Given the description of an element on the screen output the (x, y) to click on. 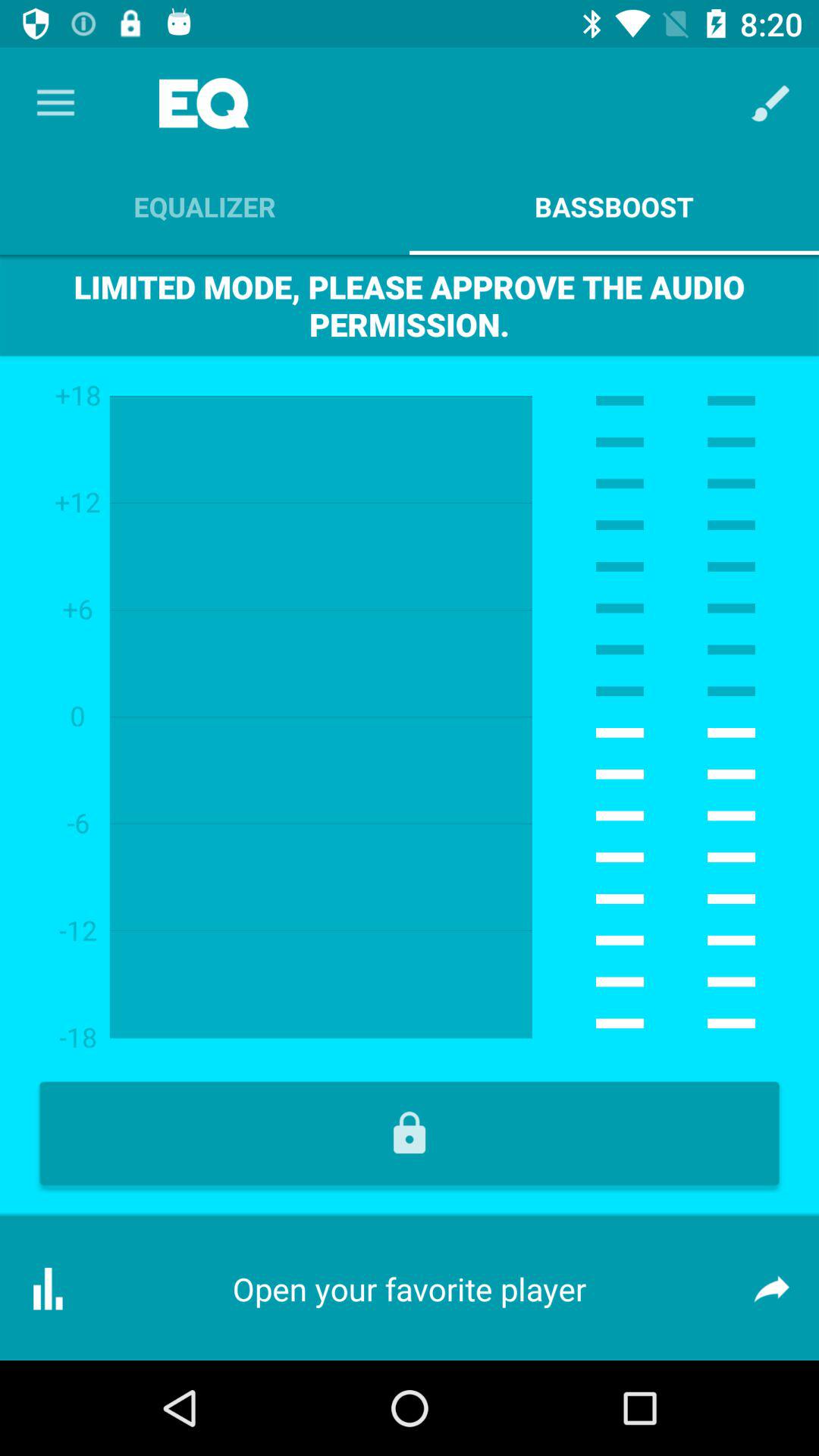
turn on the limited mode please item (409, 305)
